Given the description of an element on the screen output the (x, y) to click on. 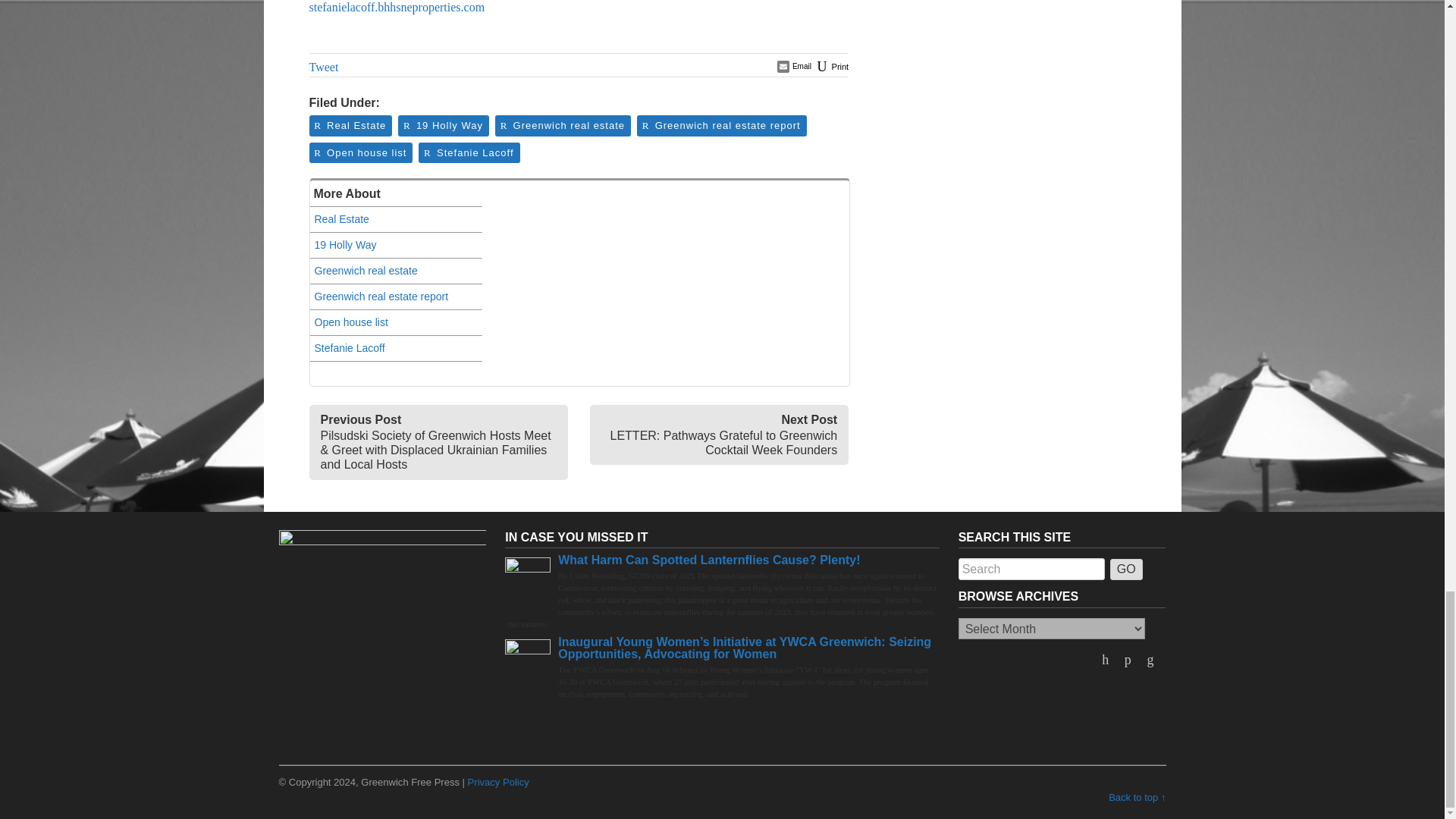
Read Posts tagged with: Stefanie Lacoff (467, 152)
Read Posts tagged with: Greenwich real estate (561, 125)
Read Posts tagged with: Open house list (359, 152)
Read Posts in the Real Estate category (349, 125)
GO (1125, 568)
Read Posts tagged with: 19 Holly Way (442, 125)
GO (1125, 568)
print this article (830, 66)
Read Posts tagged with: Greenwich real estate report (720, 125)
